Given the description of an element on the screen output the (x, y) to click on. 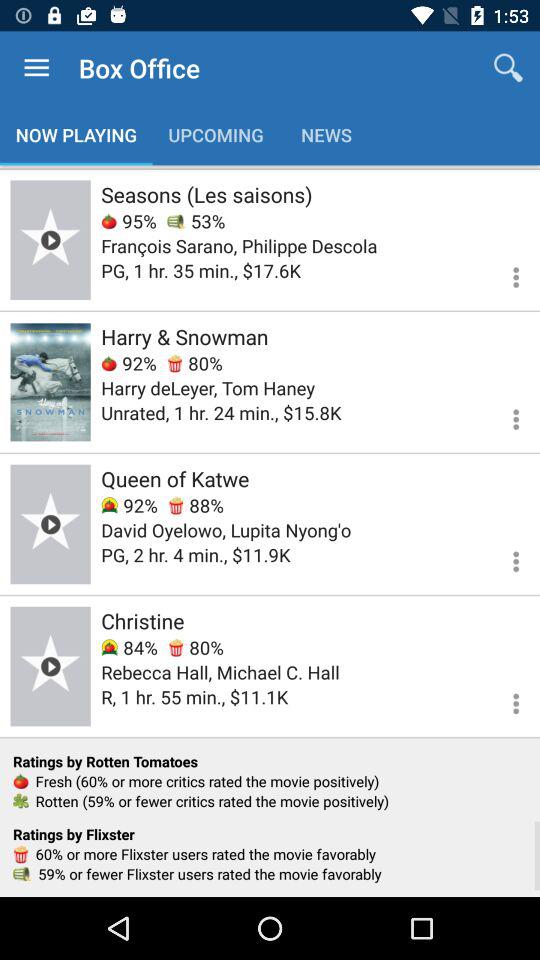
play preview (50, 666)
